Given the description of an element on the screen output the (x, y) to click on. 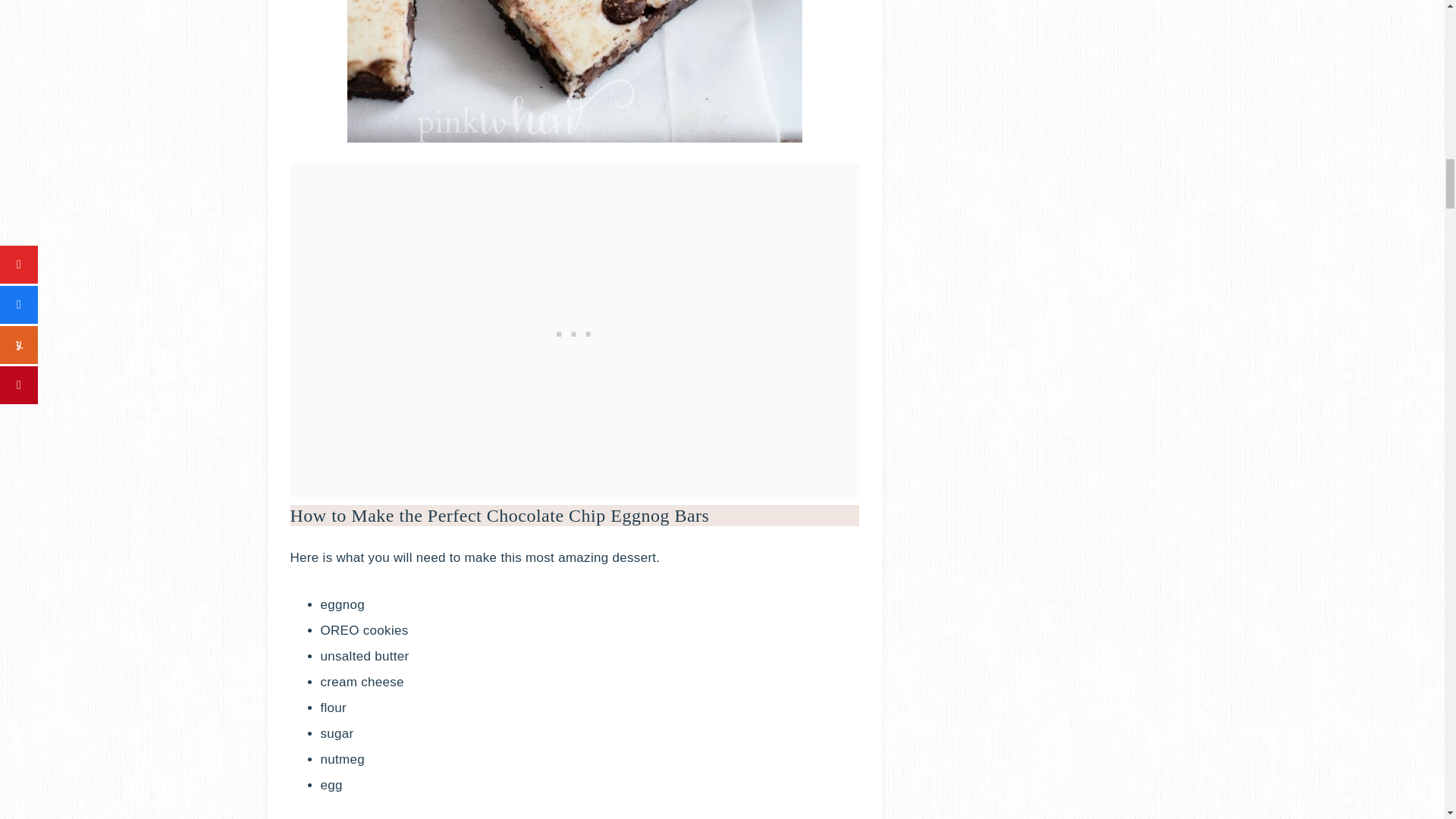
How to make the perfect Chocolate Chip Eggnog Bars 17 (574, 71)
